Given the description of an element on the screen output the (x, y) to click on. 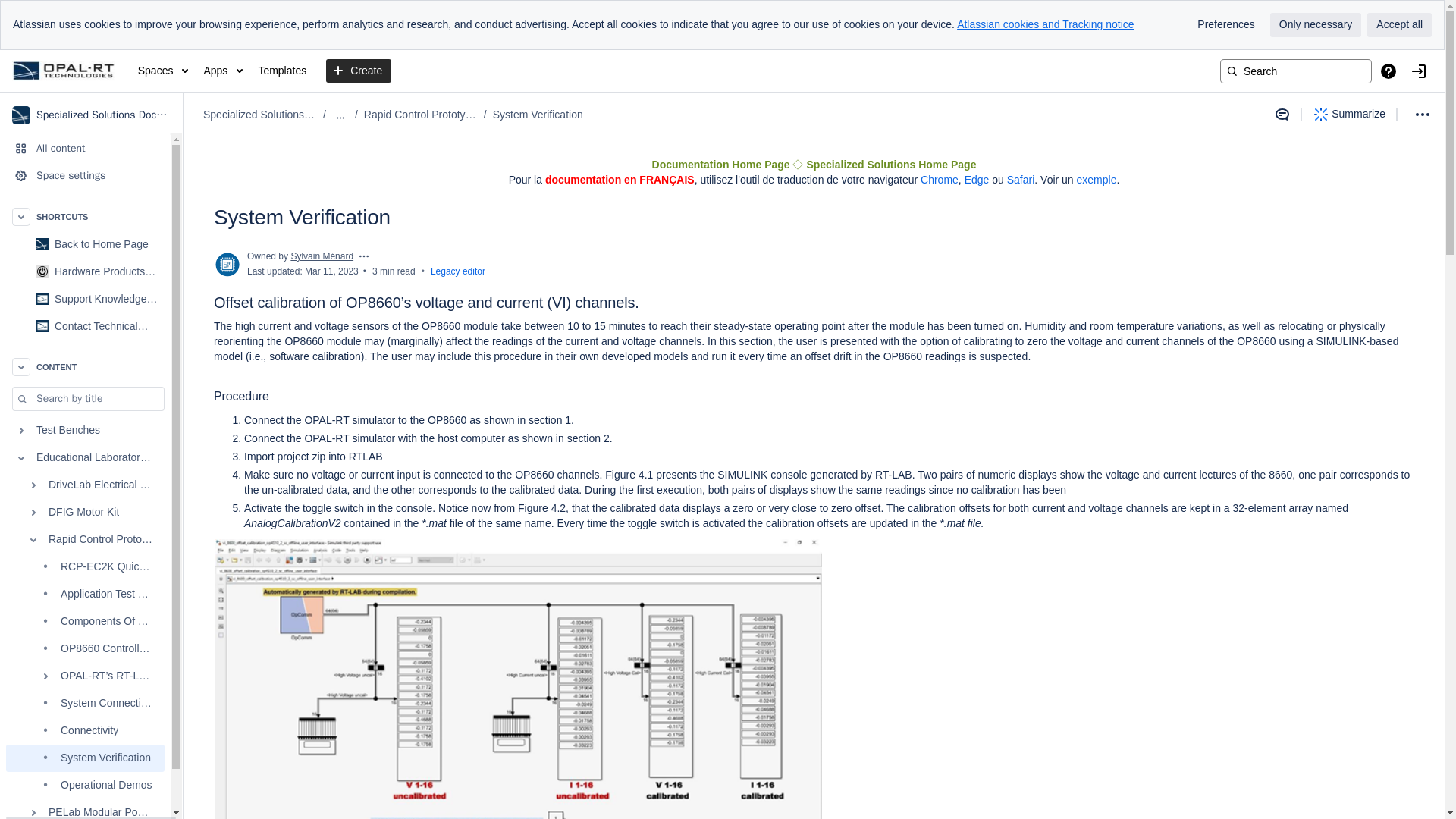
Hardware Products Documentation (84, 271)
Support Knowledge Base (108, 298)
Space settings (84, 175)
Spaces (163, 70)
Only necessary (1315, 24)
Preferences (1225, 24)
Support Knowledge Base (84, 298)
Educational Laboratory Kits (84, 457)
DriveLab Electrical Motor Kit (84, 484)
DFIG Motor Kit (84, 512)
Specialized Solutions Documentation (90, 114)
Hardware Products Documentation (108, 271)
Apps (222, 70)
All content (84, 148)
Create (358, 70)
